Given the description of an element on the screen output the (x, y) to click on. 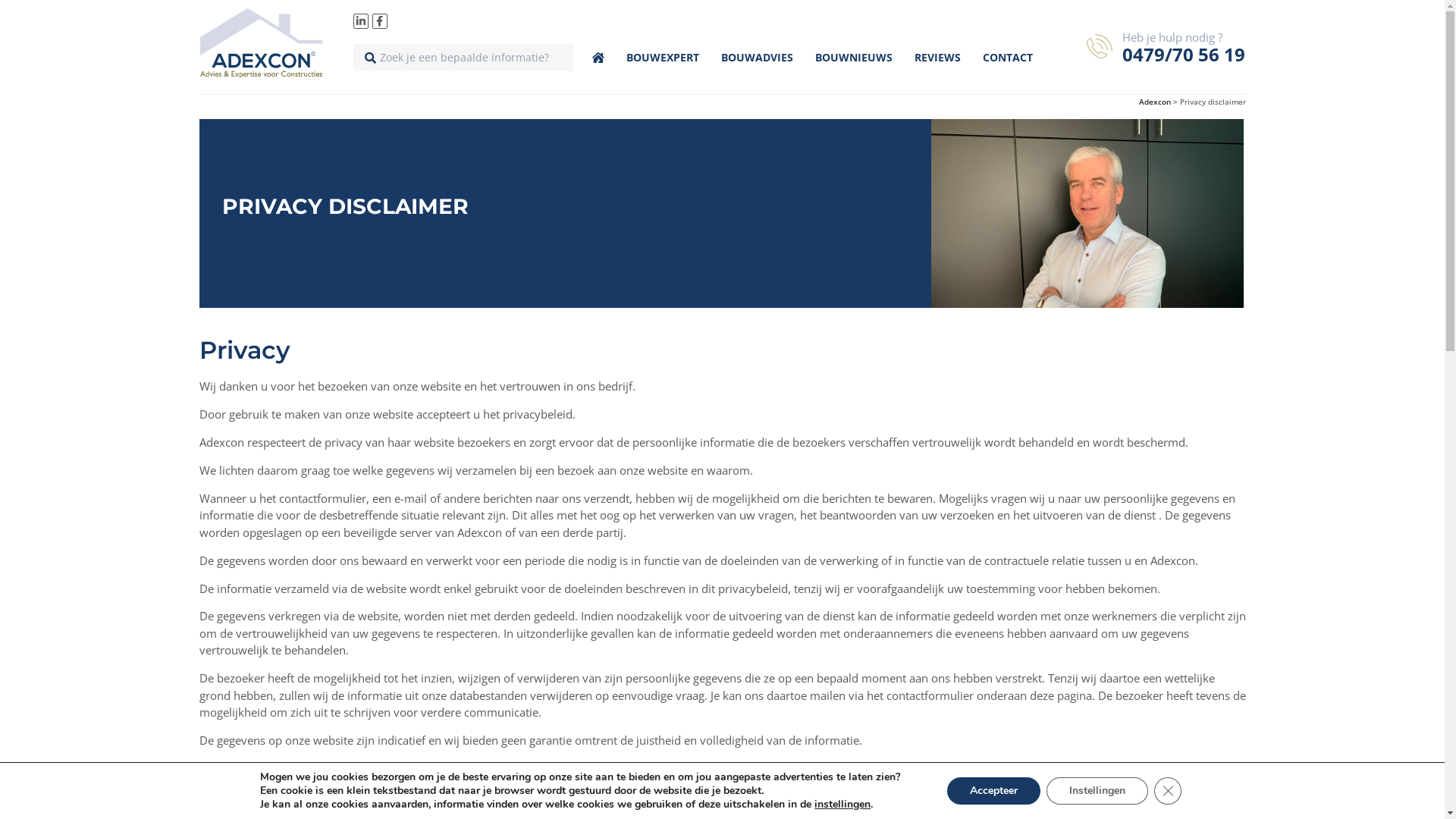
CONTACT Element type: text (1007, 57)
Sluit GDPR (AVG) cookie banner Element type: text (1167, 790)
0479/70 56 19 Element type: text (1183, 53)
Instellingen Element type: text (1097, 790)
Accepteer Element type: text (993, 790)
BOUWADVIES Element type: text (757, 57)
instellingen Element type: text (842, 804)
REVIEWS Element type: text (937, 57)
Adexcon Element type: text (1154, 101)
Heb je hulp nodig ? Element type: text (1172, 36)
BOUWNIEUWS Element type: text (853, 57)
BOUWEXPERT Element type: text (662, 57)
